Given the description of an element on the screen output the (x, y) to click on. 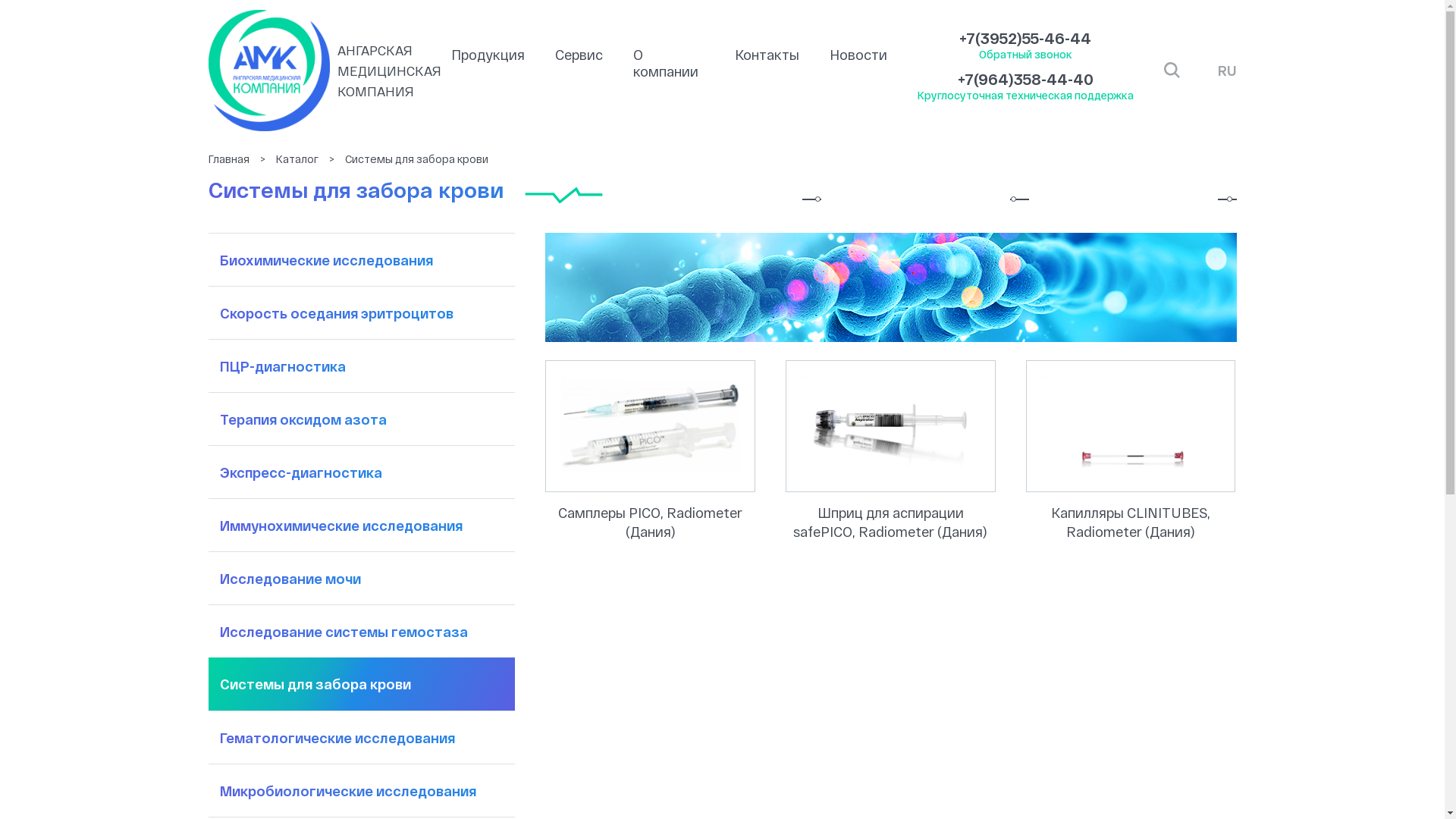
+7(964)358-44-40 Element type: text (1025, 78)
+7(3952)55-46-44 Element type: text (1025, 37)
